Given the description of an element on the screen output the (x, y) to click on. 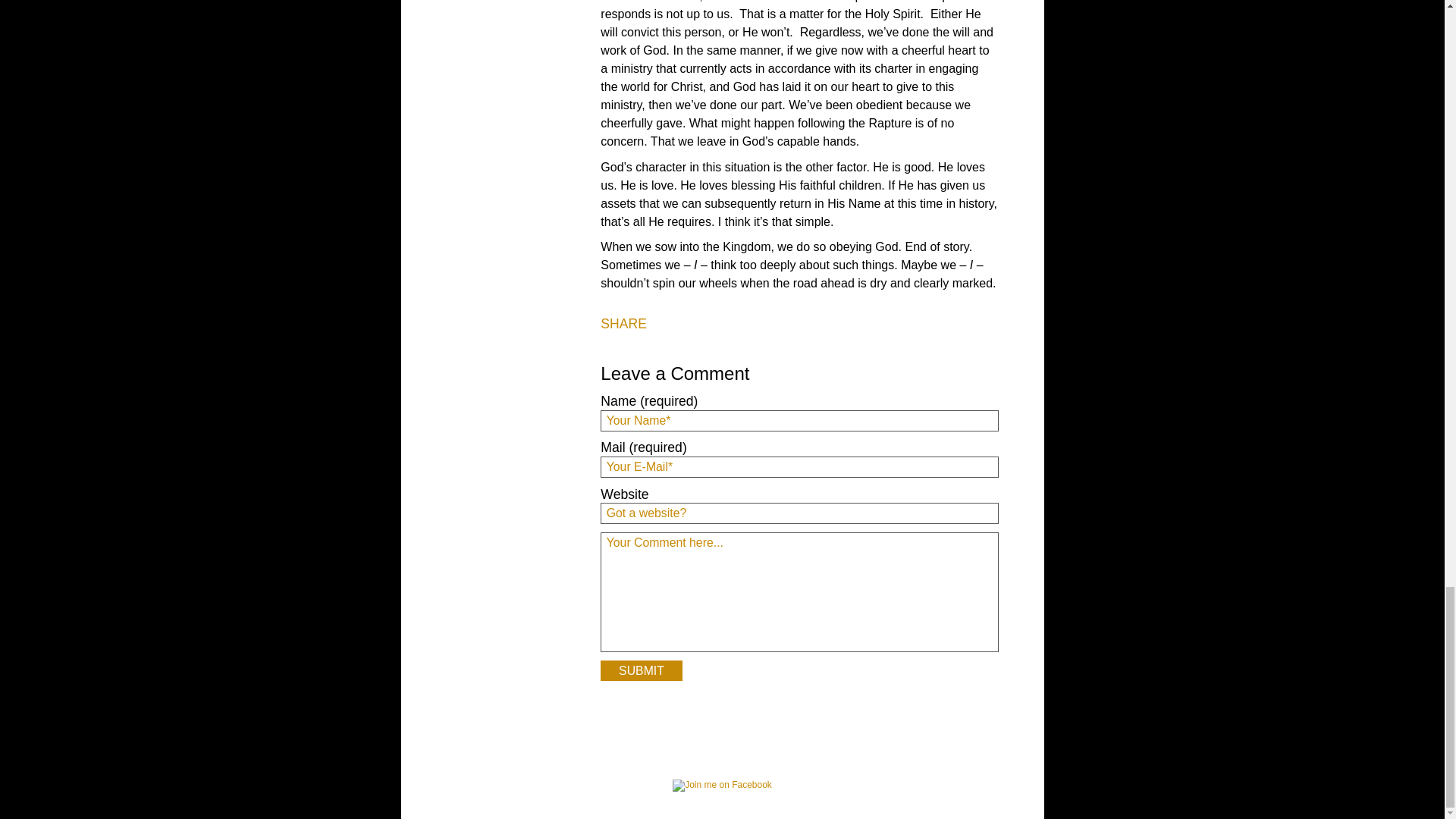
SHARE (622, 324)
Submit (640, 670)
Submit (640, 670)
